Given the description of an element on the screen output the (x, y) to click on. 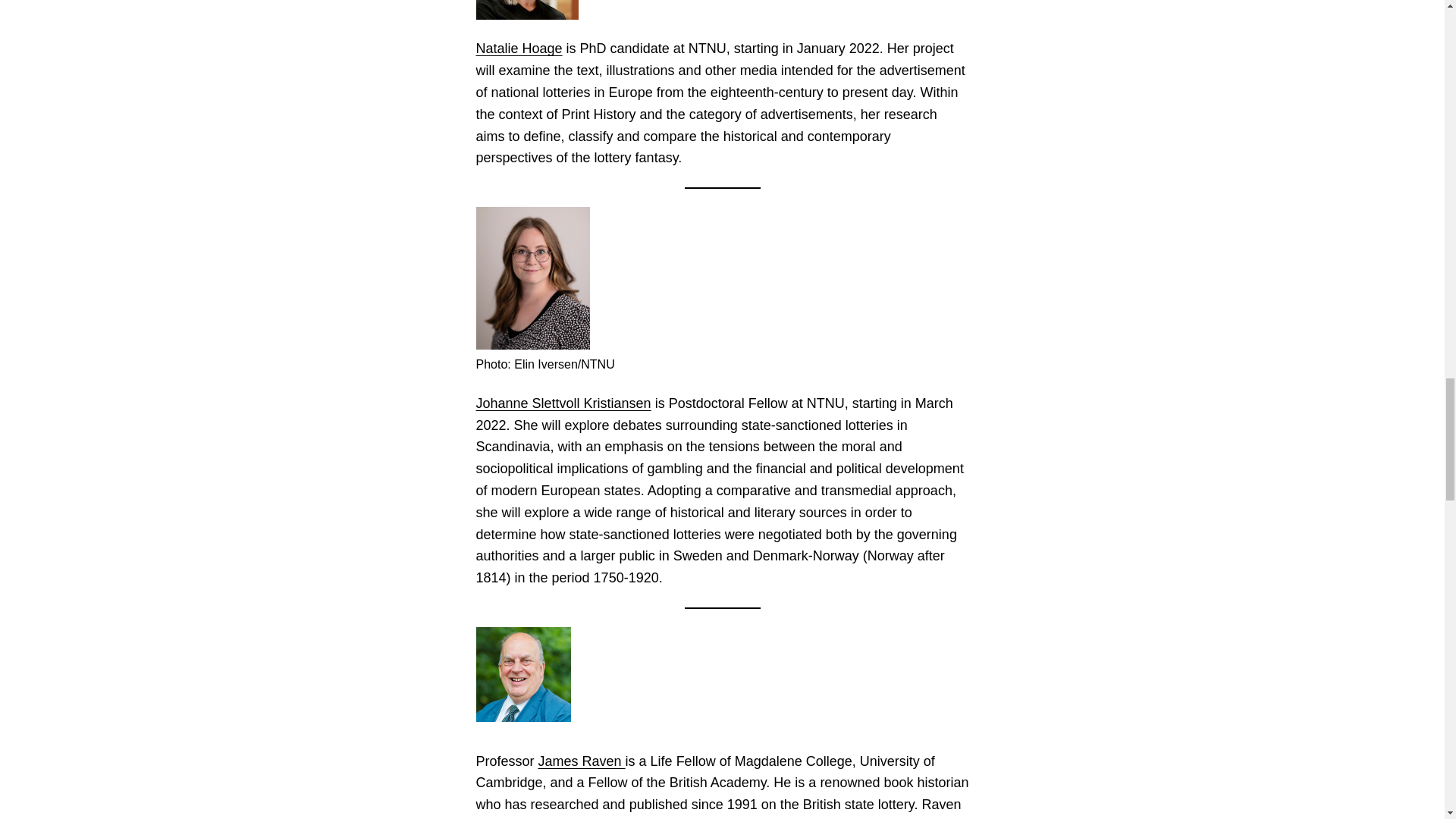
Johanne Slettvoll Kristiansen (563, 403)
Natalie Hoage (519, 48)
James Raven  (582, 761)
